Given the description of an element on the screen output the (x, y) to click on. 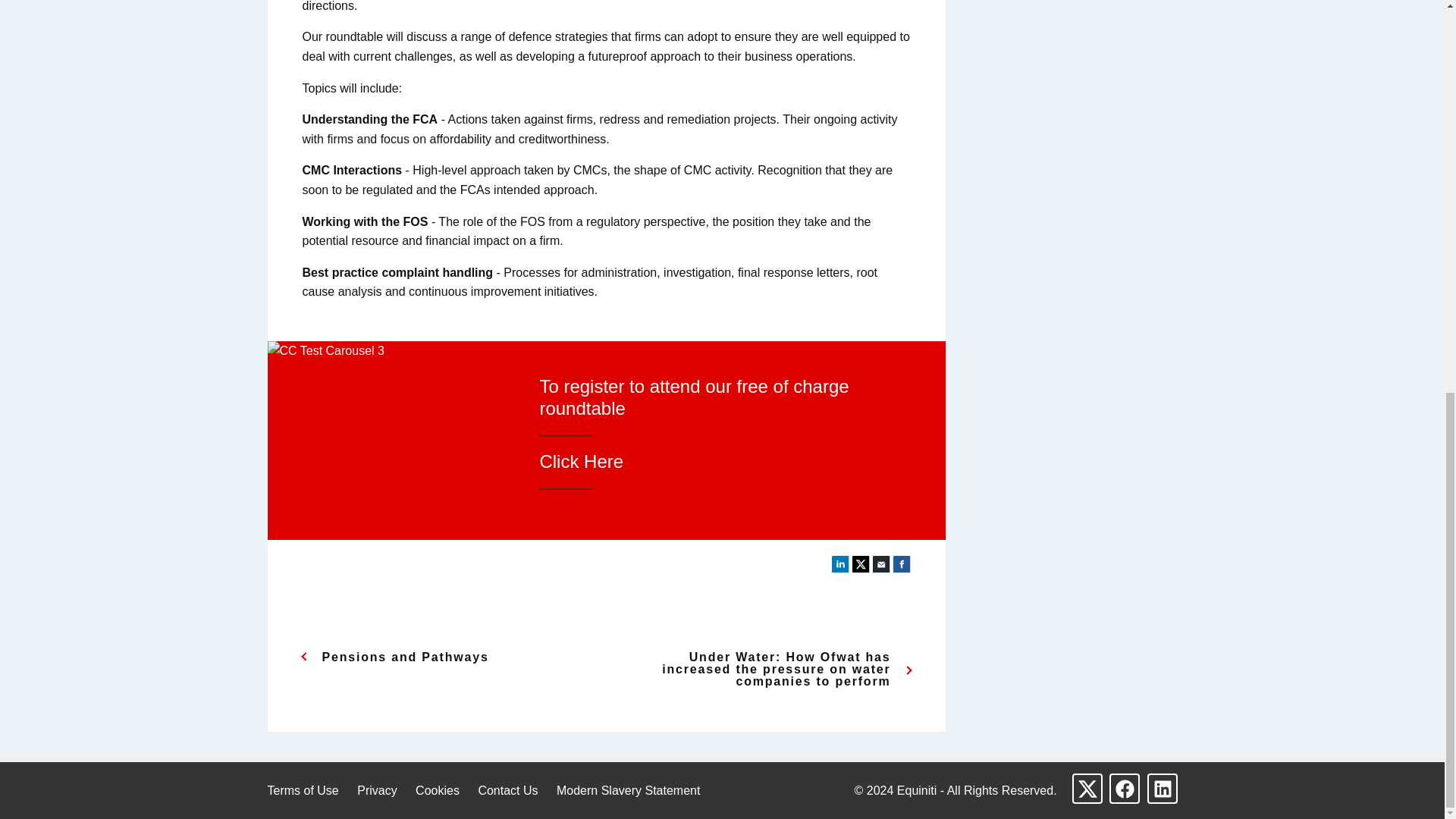
Pensions and Pathways (439, 656)
Follow us on LinkedIn (1161, 788)
Click Here (580, 461)
Follow us on X (1086, 788)
Follow us on Facebook (1124, 788)
